Given the description of an element on the screen output the (x, y) to click on. 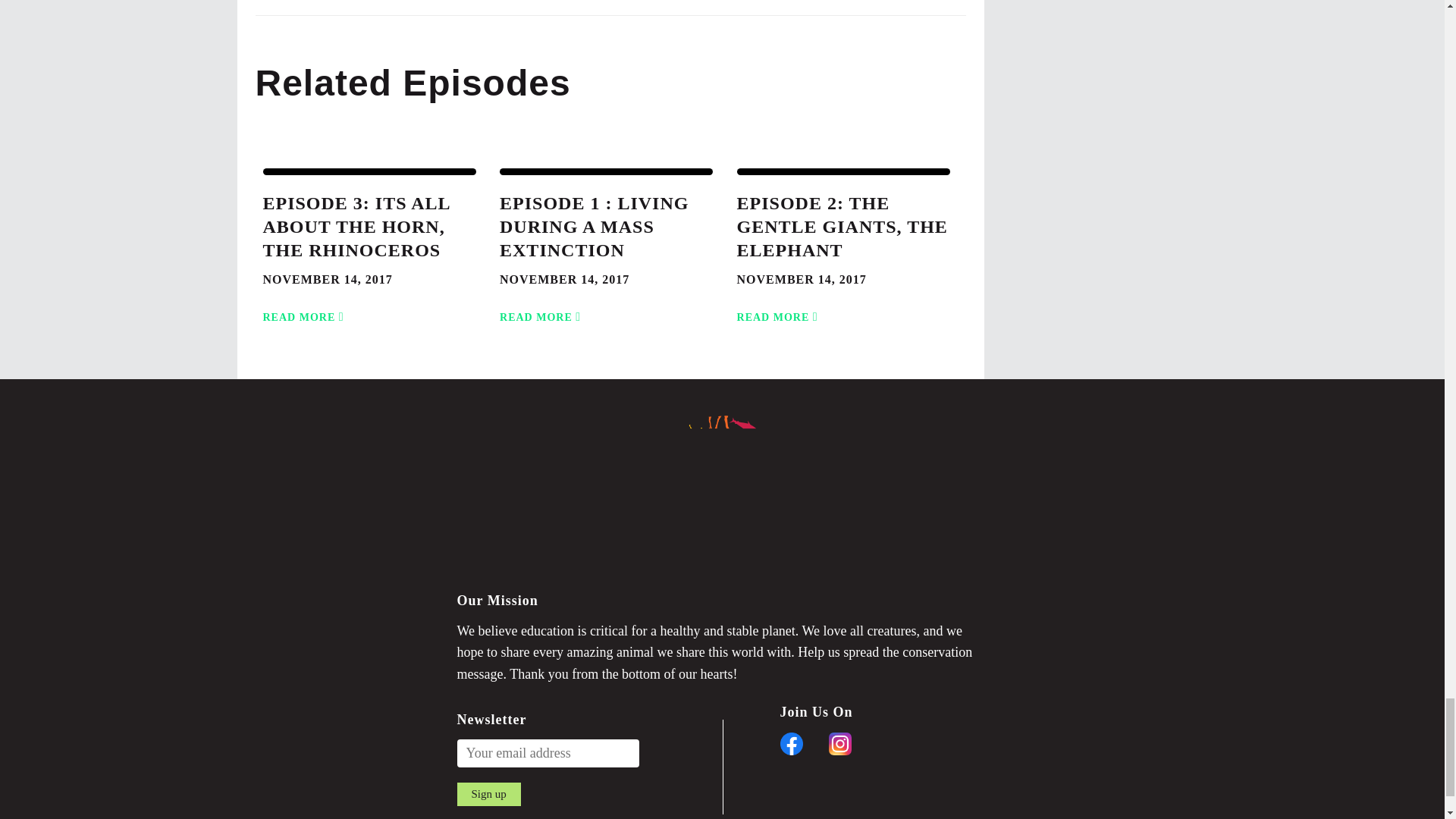
READ MORE (780, 308)
Sign up (488, 793)
All Creatures Podcast (722, 497)
READ MORE (542, 308)
READ MORE (305, 308)
Sign up (488, 793)
